Given the description of an element on the screen output the (x, y) to click on. 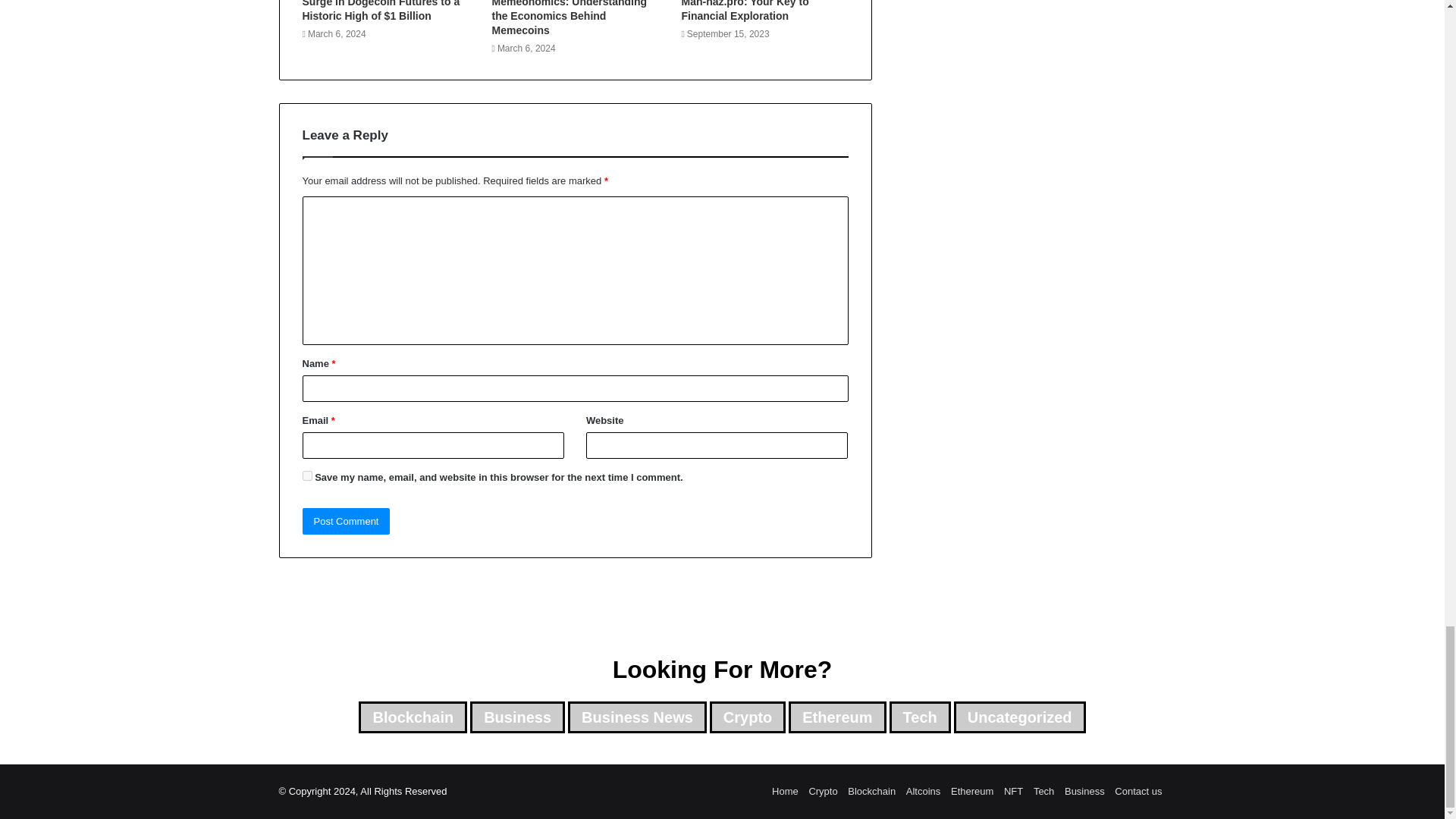
Post Comment (345, 520)
yes (306, 475)
